Given the description of an element on the screen output the (x, y) to click on. 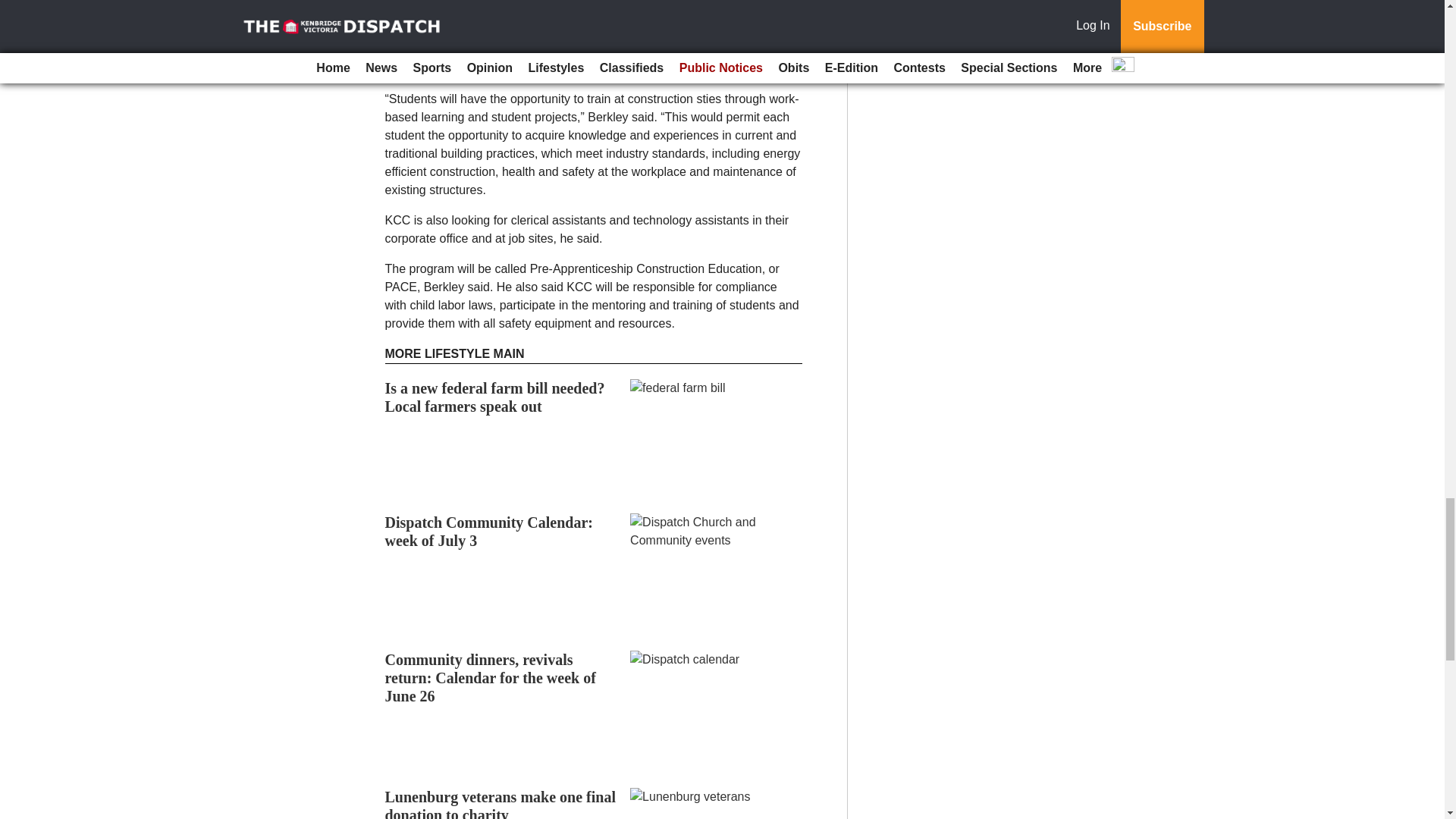
Dispatch Community Calendar: week of July 3 (488, 531)
Lunenburg veterans make one final donation to charity (500, 803)
Is a new federal farm bill needed? Local farmers speak out (495, 397)
Dispatch Community Calendar: week of July 3 (488, 531)
Lunenburg veterans make one final donation to charity (500, 803)
Is a new federal farm bill needed? Local farmers speak out (495, 397)
